Given the description of an element on the screen output the (x, y) to click on. 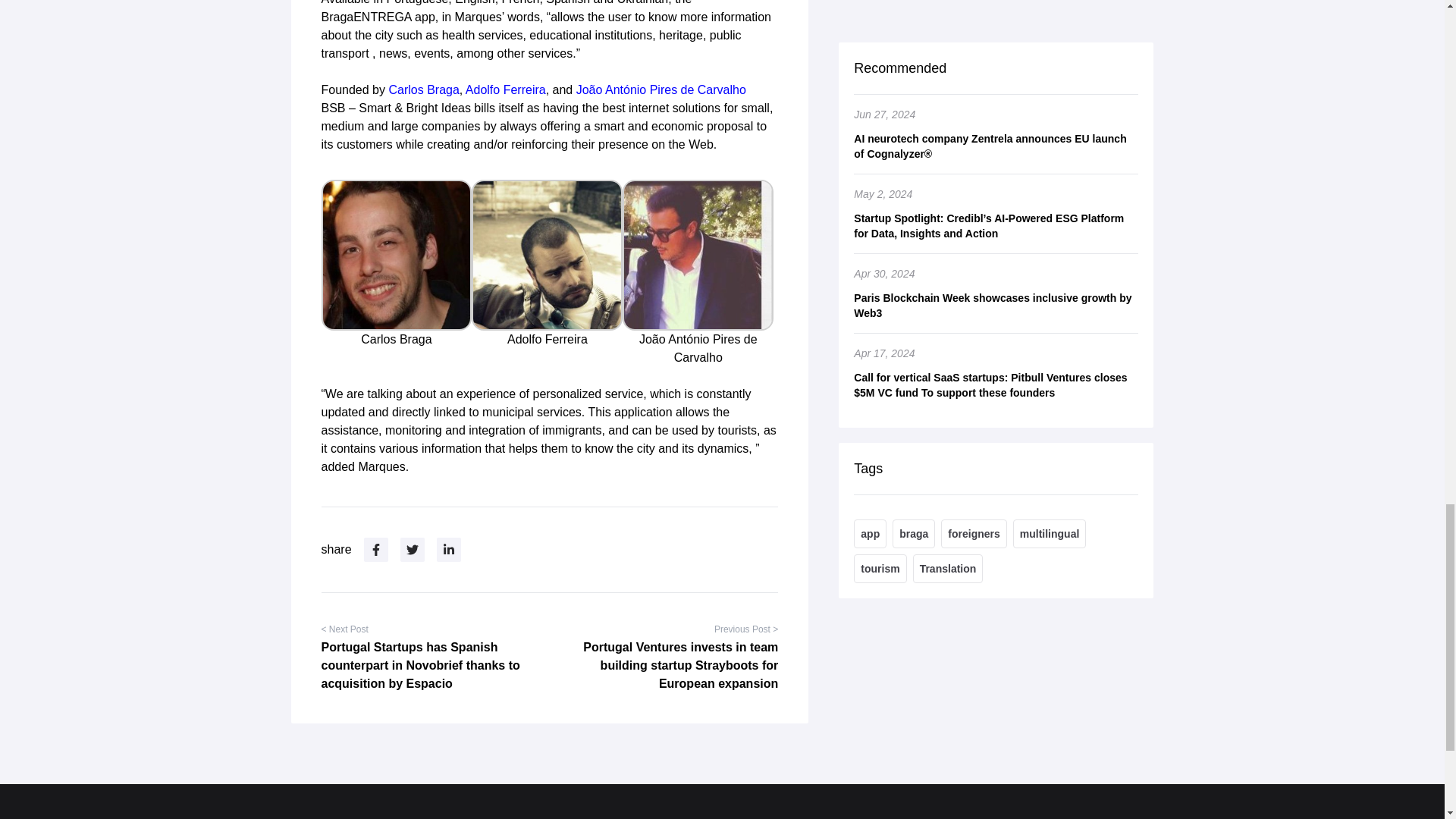
Adolfo Ferreira (505, 89)
Carlos Braga (423, 89)
